Given the description of an element on the screen output the (x, y) to click on. 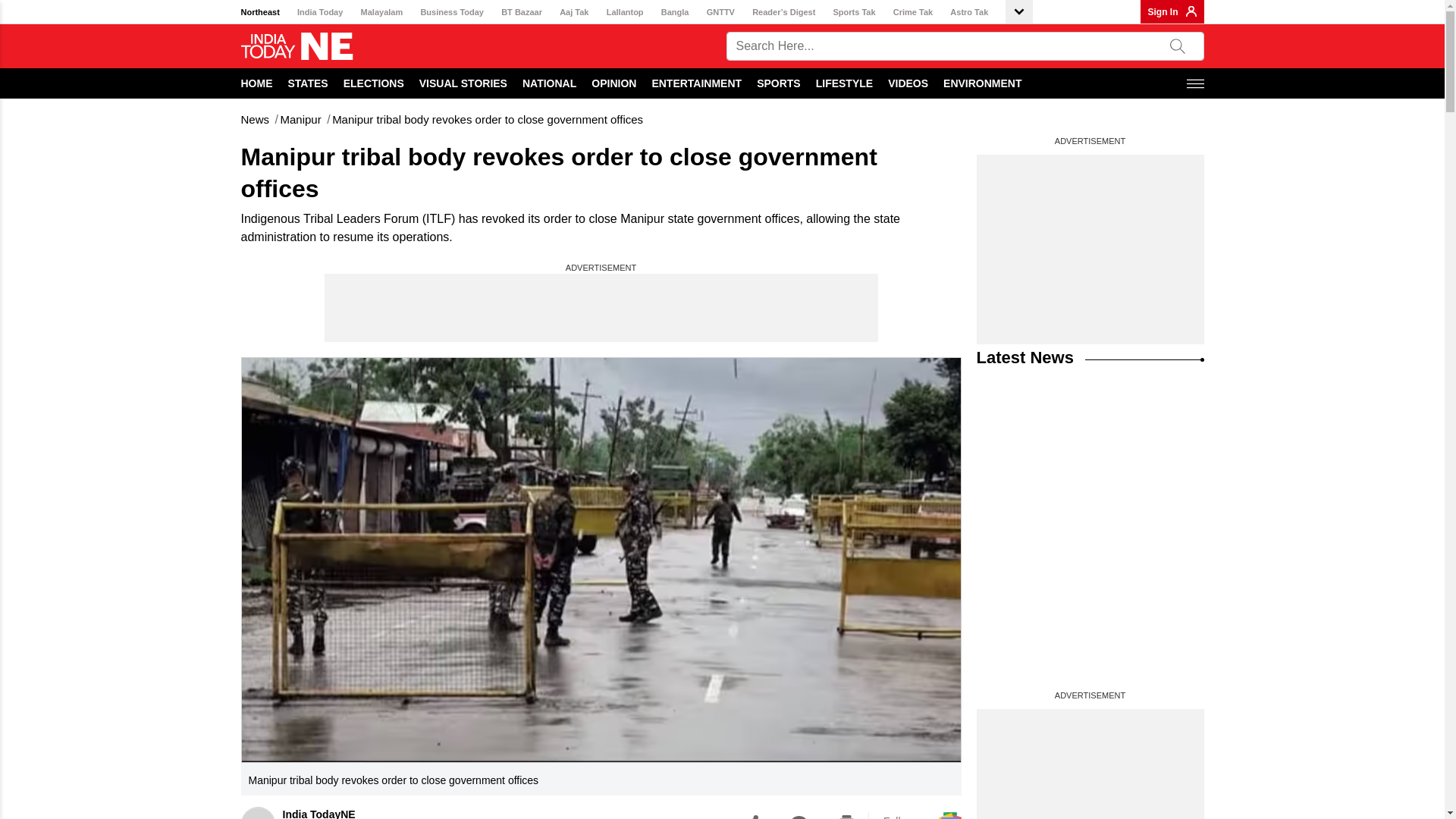
Malayalam (382, 12)
Aaj Tak (573, 12)
Sports Tak (854, 12)
Sports Tak (854, 12)
STATES (308, 82)
Aaj Tak (573, 12)
India Today (319, 12)
ELECTIONS (373, 82)
Astro Tak (969, 12)
GNTTV (720, 12)
